Given the description of an element on the screen output the (x, y) to click on. 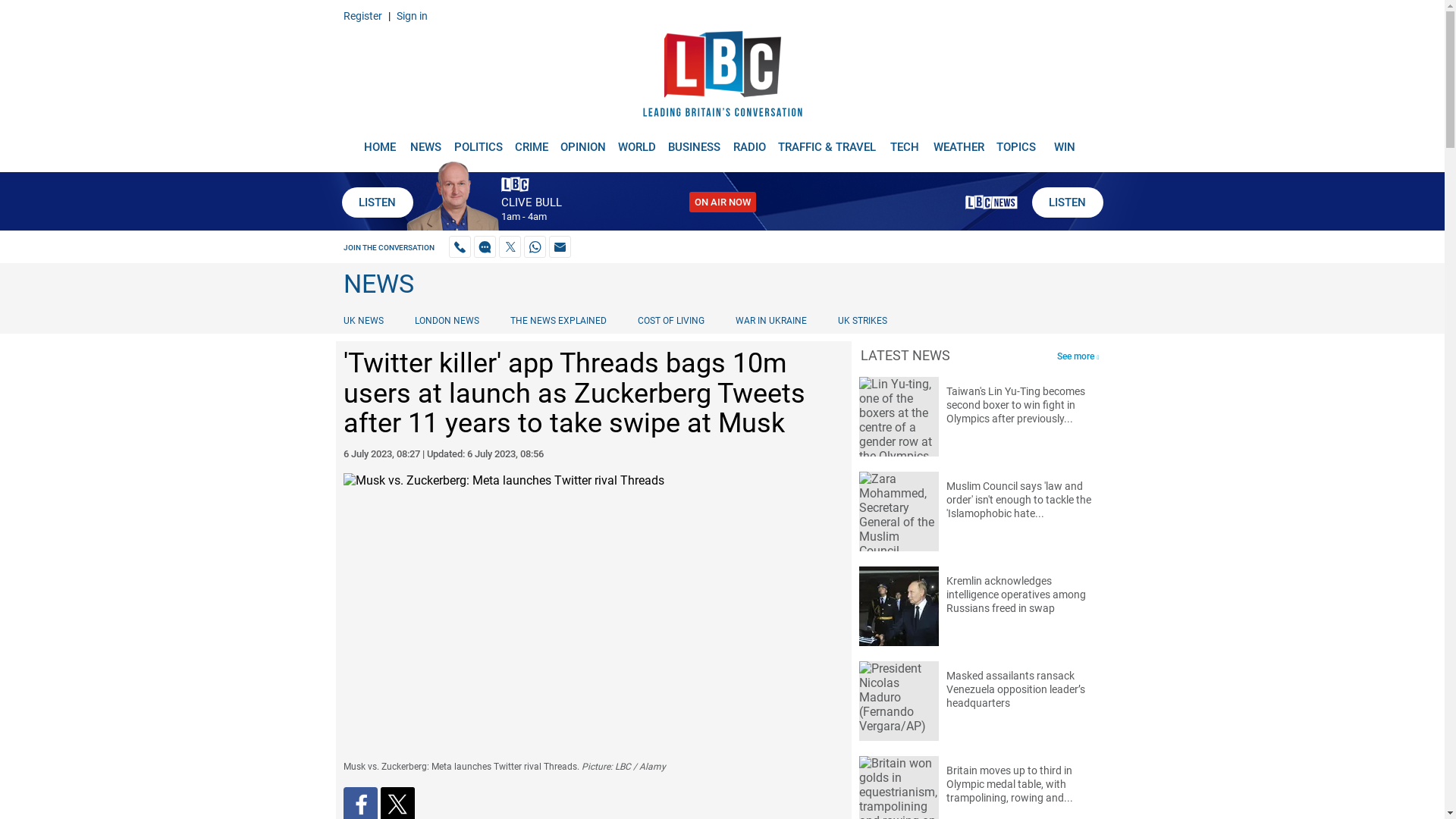
LBC (722, 77)
TOPICS (1016, 140)
COST OF LIVING (670, 320)
WEATHER (958, 140)
POLITICS (478, 140)
UK NEWS (365, 320)
WORLD (636, 140)
LONDON NEWS (446, 320)
CLIVE BULL (530, 202)
WIN (1064, 140)
HOME (379, 140)
THE NEWS EXPLAINED (558, 320)
BUSINESS (694, 140)
Sign in (411, 15)
RADIO (748, 140)
